Given the description of an element on the screen output the (x, y) to click on. 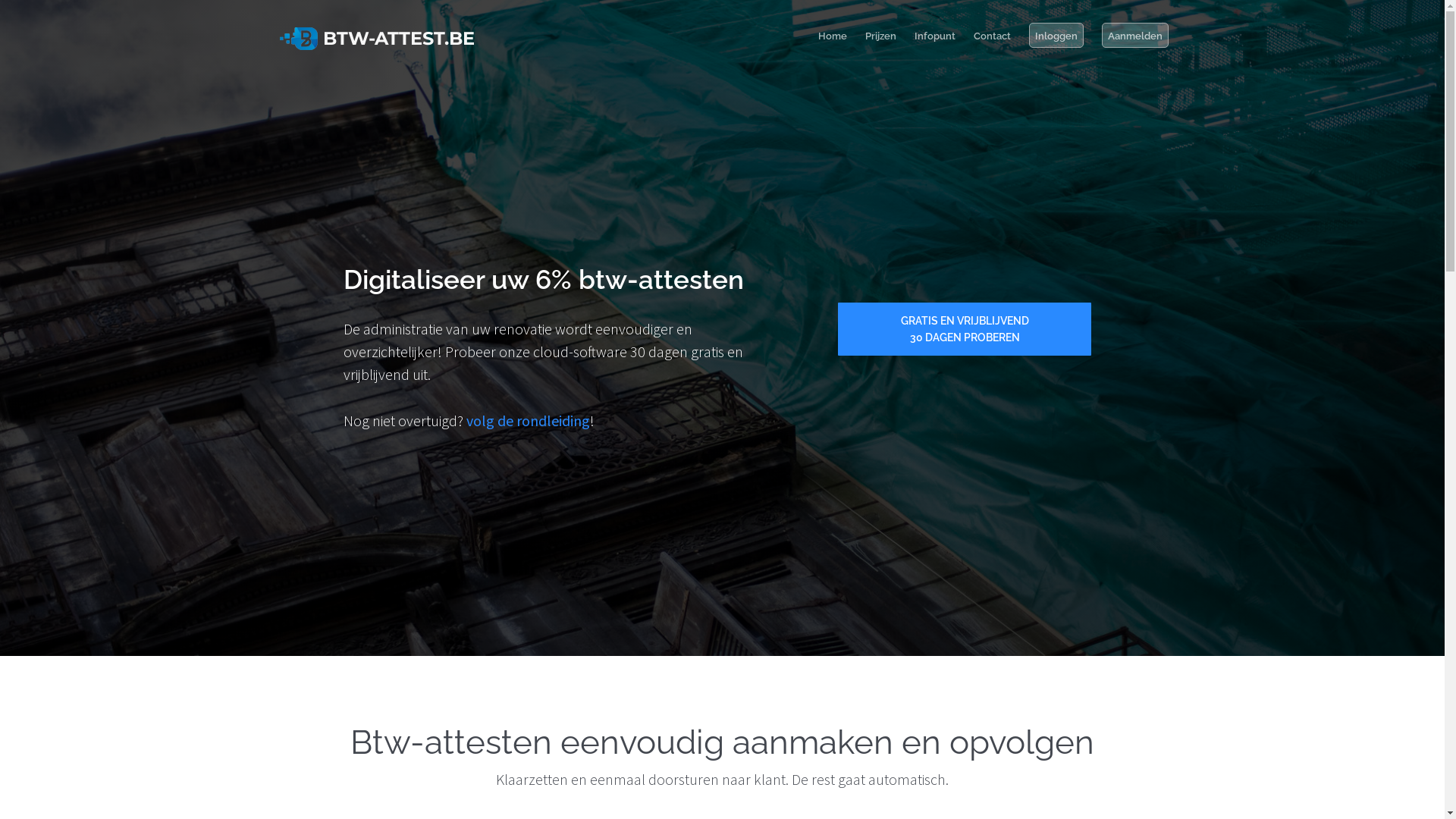
Inloggen Element type: text (1055, 34)
Home Element type: text (831, 34)
BTW-ATTEST.BE Element type: text (375, 34)
Contact Element type: text (991, 34)
volg de rondleiding Element type: text (527, 420)
GRATIS EN VRIJBLIJVEND
30 DAGEN PROBEREN Element type: text (964, 328)
Infopunt Element type: text (934, 34)
Aanmelden Element type: text (1134, 34)
Prijzen Element type: text (879, 34)
